Given the description of an element on the screen output the (x, y) to click on. 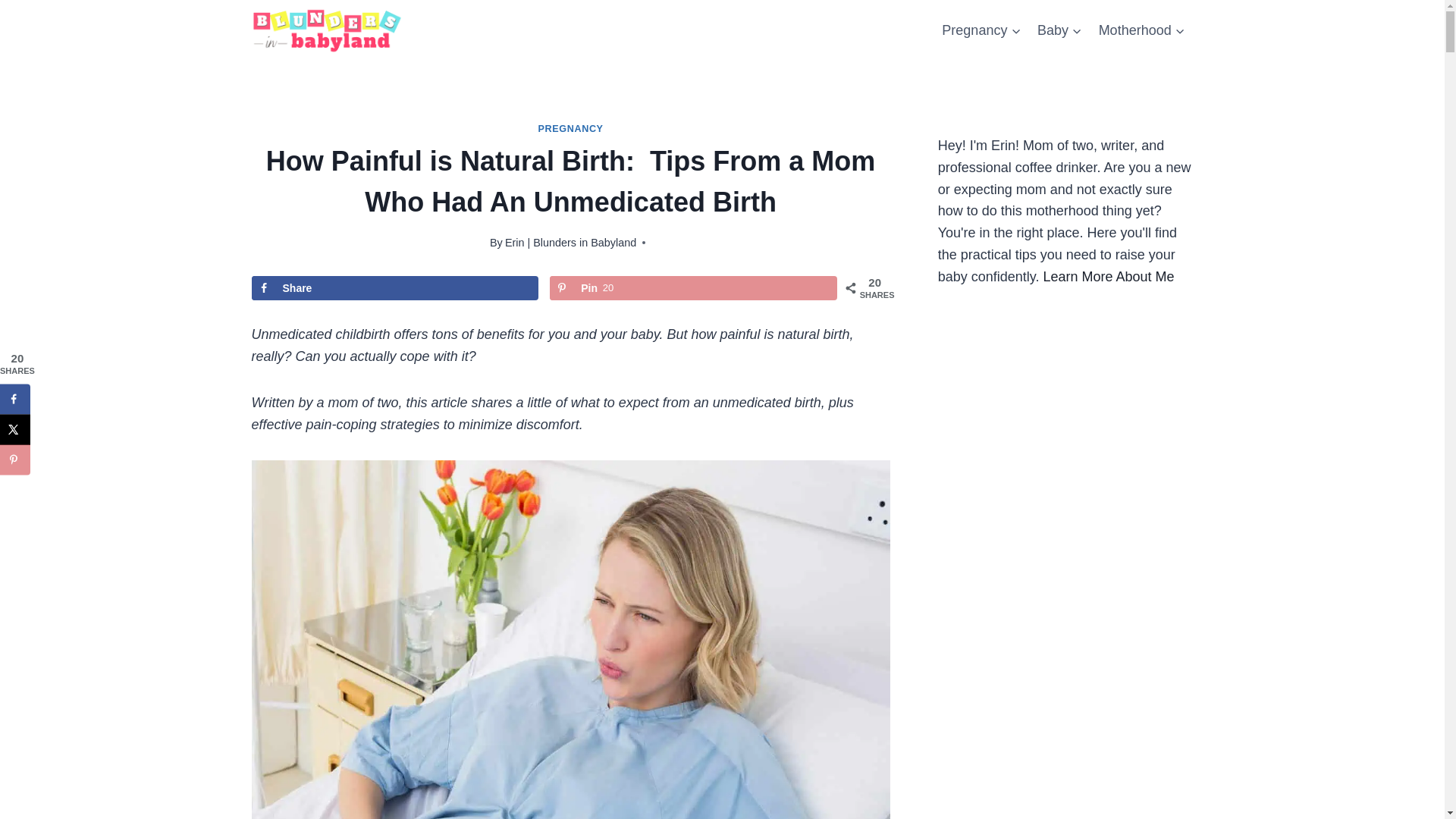
Baby (1059, 30)
Save to Pinterest (692, 288)
Pregnancy (981, 30)
Share on Facebook (394, 288)
Share on Facebook (15, 399)
Share on X (15, 429)
PREGNANCY (571, 128)
Save to Pinterest (15, 459)
Share (394, 288)
Motherhood (1141, 30)
